Given the description of an element on the screen output the (x, y) to click on. 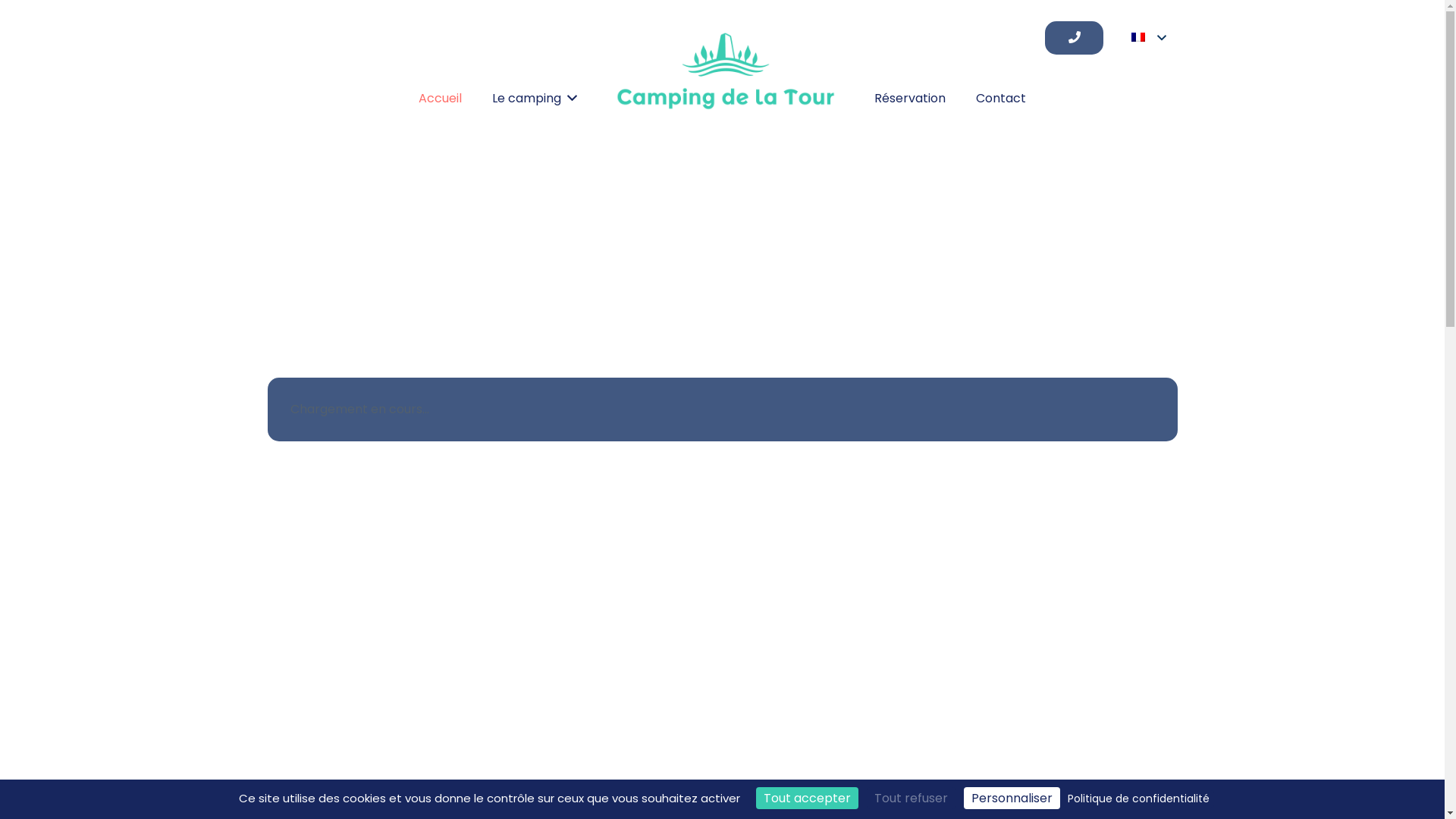
Contact Element type: text (1000, 98)
Accueil Element type: text (439, 98)
Personnaliser Element type: text (1011, 798)
Le camping Element type: text (534, 98)
Tout refuser Element type: text (910, 798)
Tout accepter Element type: text (806, 798)
